Given the description of an element on the screen output the (x, y) to click on. 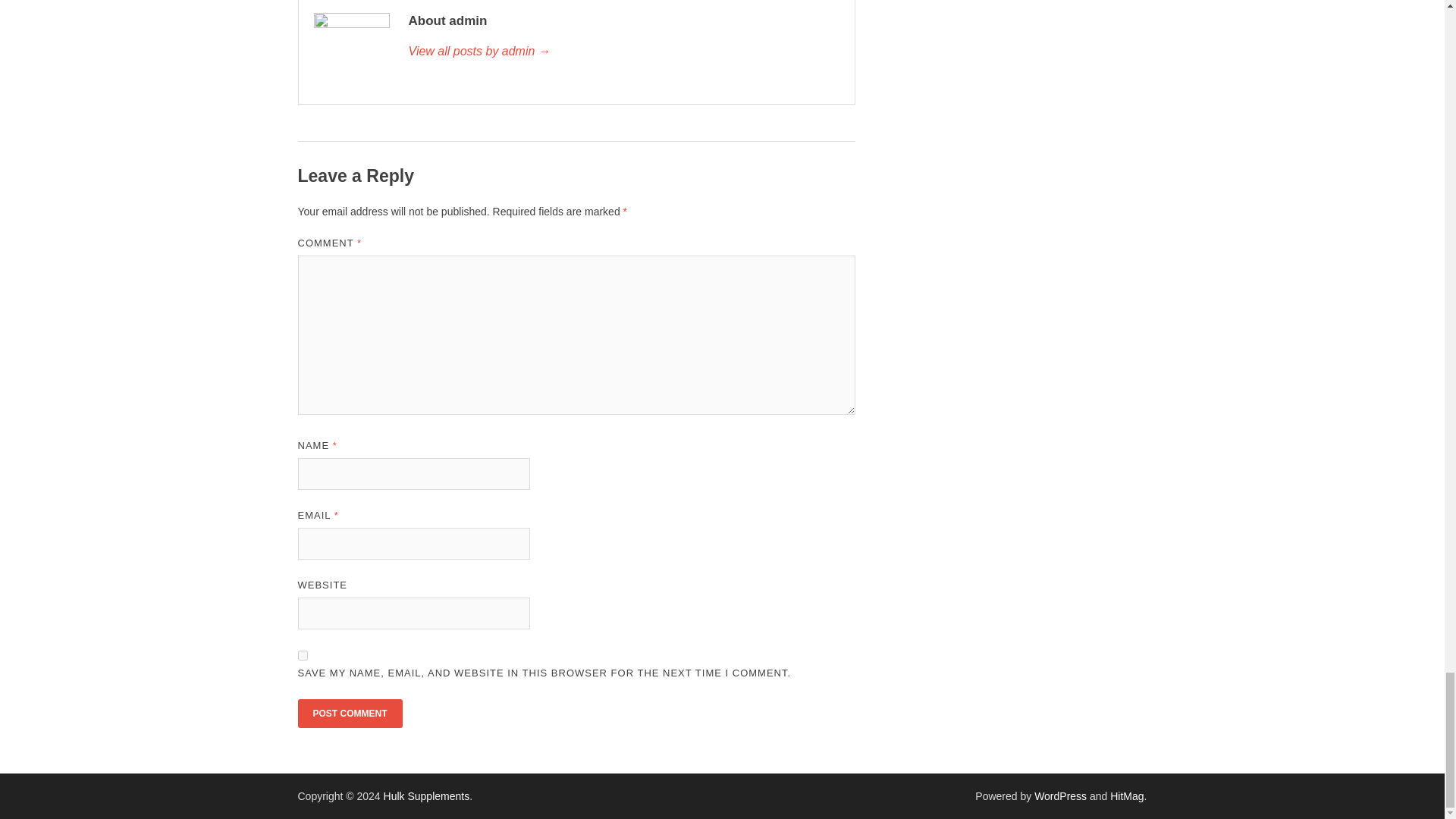
WordPress (1059, 796)
HitMag WordPress Theme (1125, 796)
Post Comment (349, 713)
yes (302, 655)
admin (622, 51)
Hulk Supplements (427, 796)
